Given the description of an element on the screen output the (x, y) to click on. 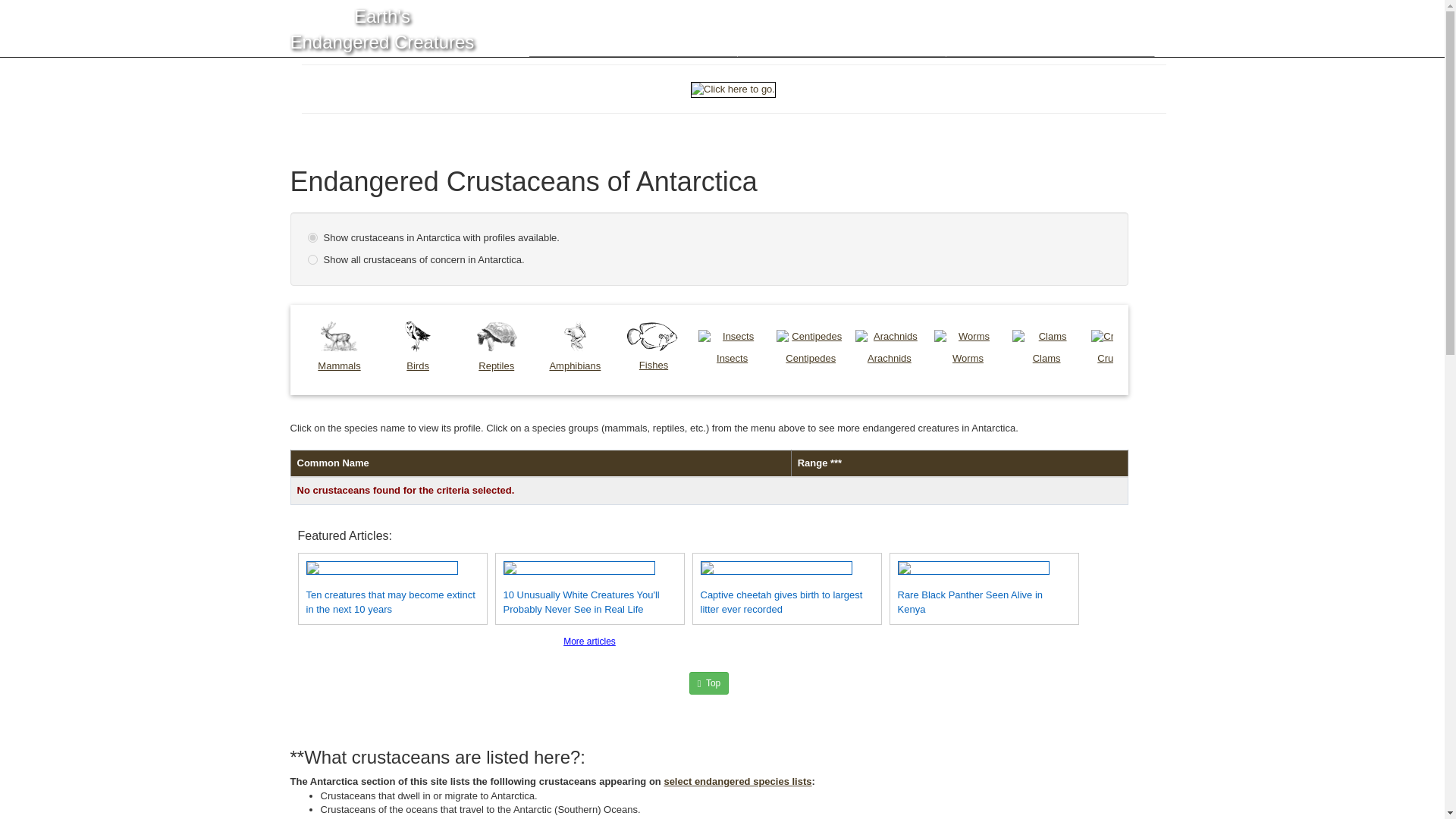
Find a Creature (840, 28)
Clams (1045, 347)
Birds (417, 347)
Fishes (653, 347)
Endangered Species List (1050, 28)
all (312, 259)
Home (632, 28)
Centipedes (810, 347)
Crustaceans (1124, 347)
Worms (968, 347)
Reptiles (497, 347)
c (312, 237)
Insects (732, 347)
Mammals (338, 347)
Arachnids (889, 347)
